Given the description of an element on the screen output the (x, y) to click on. 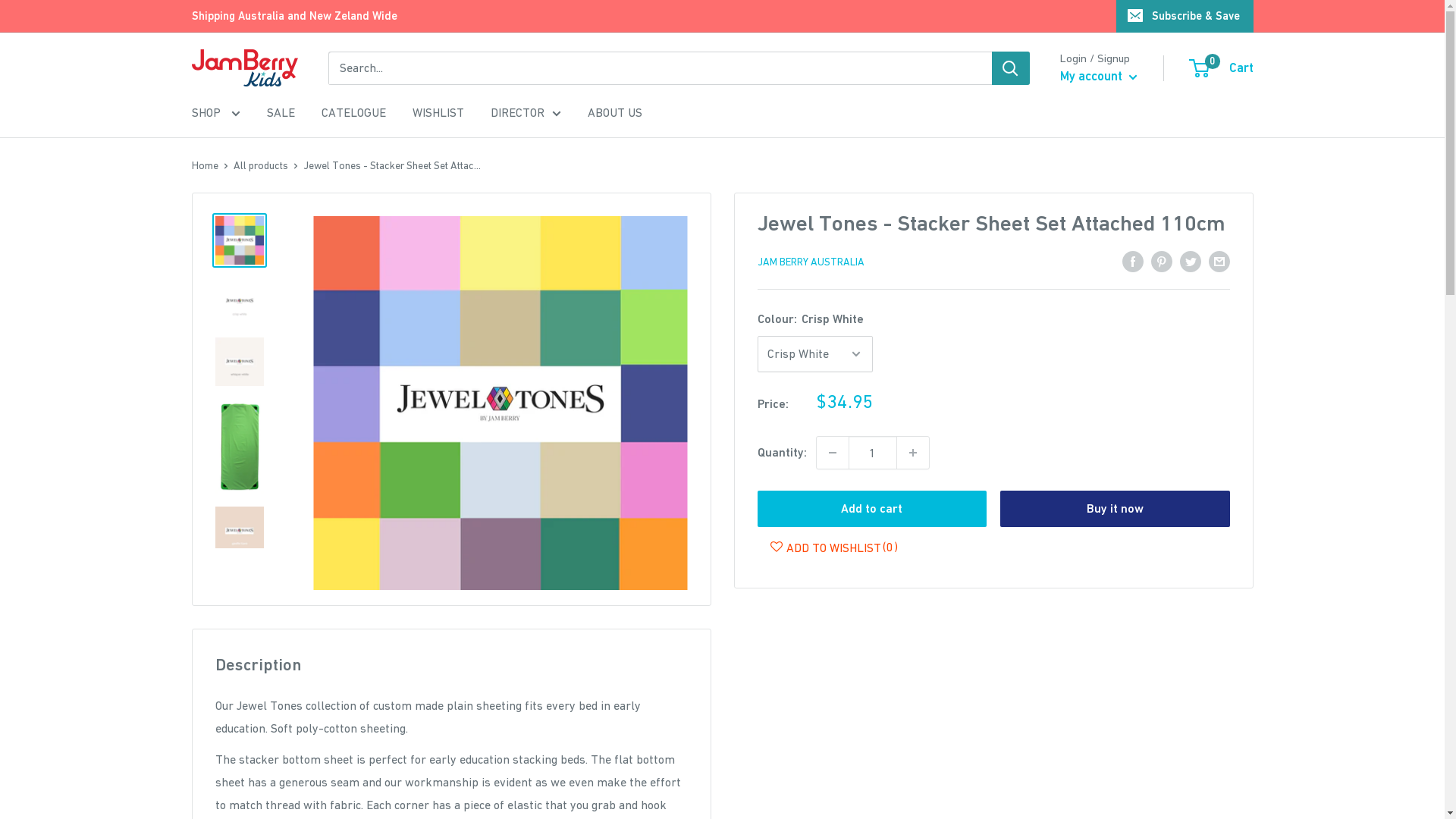
My account Element type: text (1098, 76)
Buy it now Element type: text (1115, 508)
Subscribe & Save Element type: text (1184, 15)
Increase quantity by 1 Element type: hover (912, 452)
SALE Element type: text (280, 112)
SHOP Element type: text (215, 112)
0
Cart Element type: text (1221, 68)
Home Element type: text (204, 165)
CATELOGUE Element type: text (353, 112)
JAM BERRY AUSTRALIA Element type: text (809, 261)
Decrease quantity by 1 Element type: hover (831, 452)
ABOUT US Element type: text (613, 112)
Jam Berry Australia Element type: text (244, 67)
WISHLIST Element type: text (438, 112)
Add to cart Element type: text (871, 508)
All products Element type: text (260, 165)
ADD TO WISHLIST Element type: text (822, 547)
DIRECTOR Element type: text (524, 112)
